Given the description of an element on the screen output the (x, y) to click on. 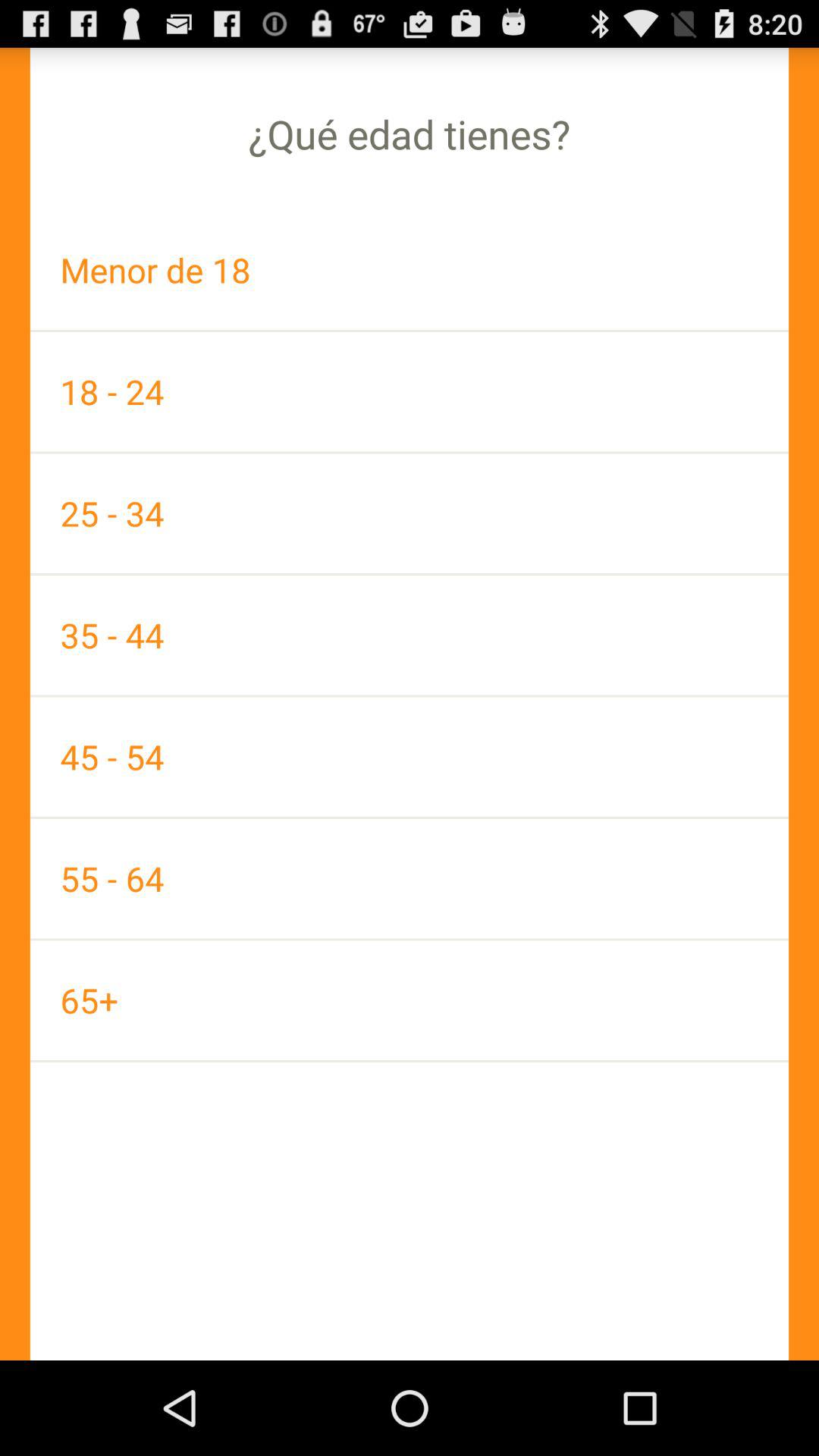
open icon above 55 - 64 (409, 756)
